Given the description of an element on the screen output the (x, y) to click on. 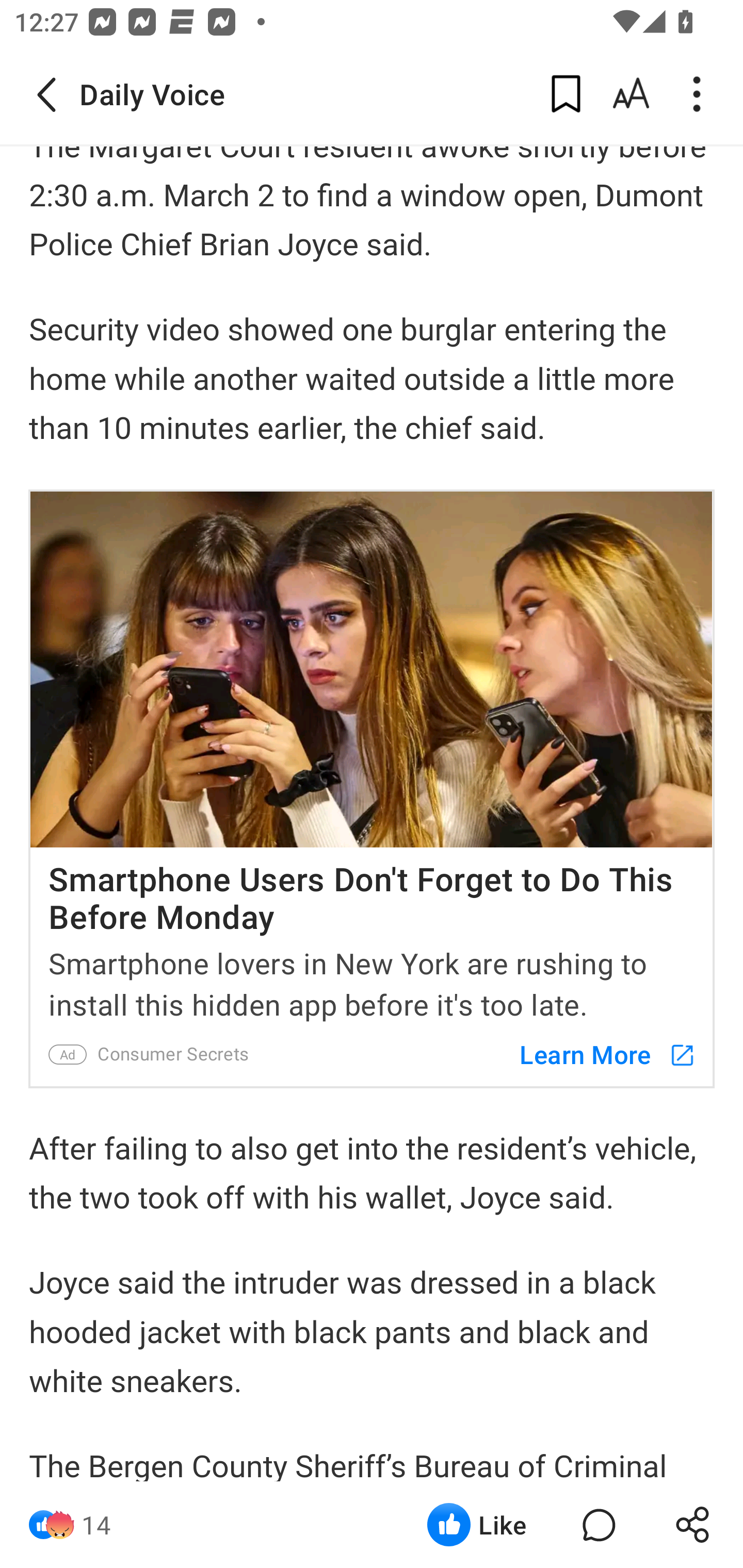
Learn More (597, 1054)
Consumer Secrets  (175, 1054)
14 (95, 1524)
Like (476, 1524)
